Given the description of an element on the screen output the (x, y) to click on. 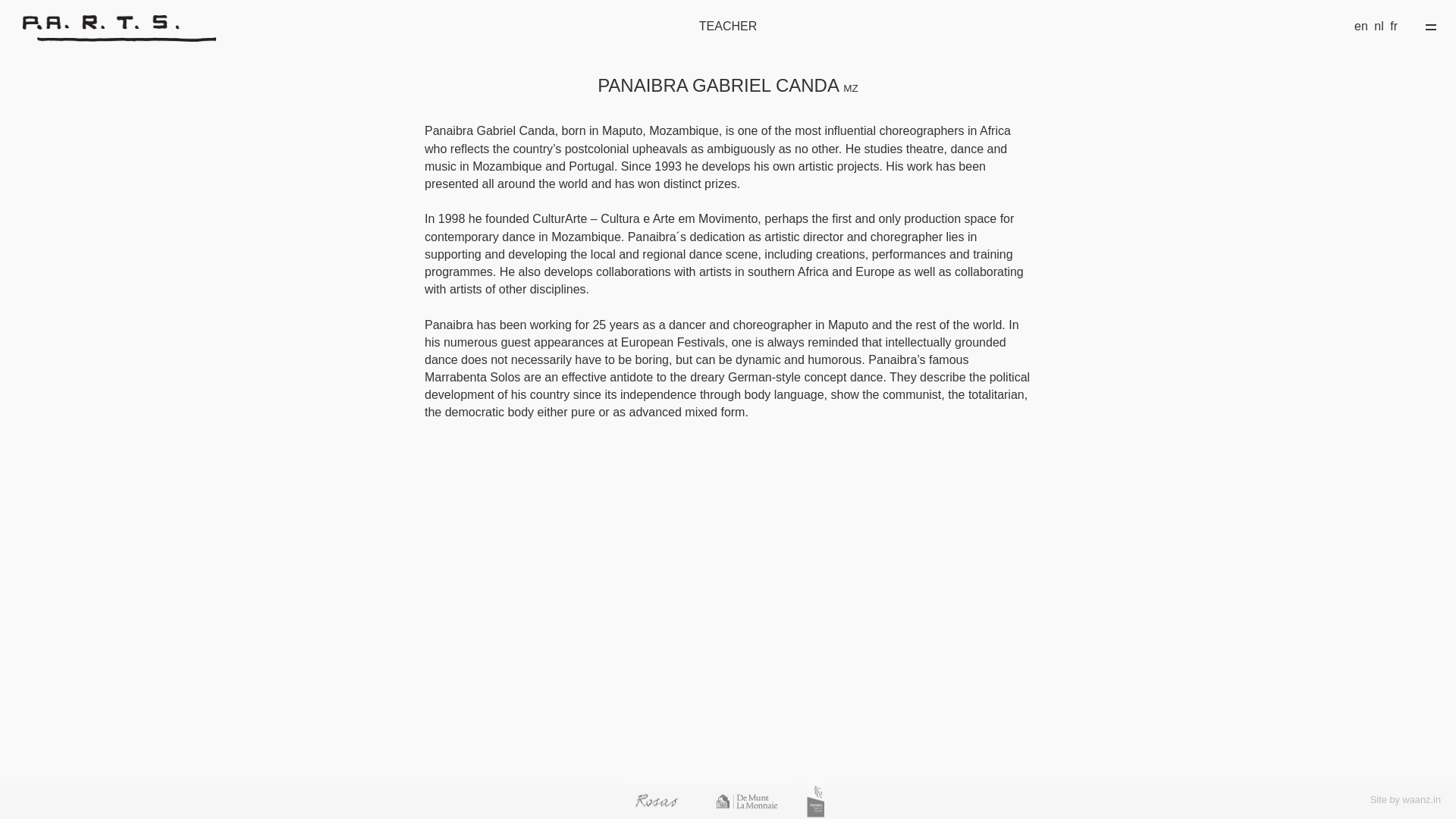
en (1361, 25)
Site by waanz.in (1405, 799)
